Given the description of an element on the screen output the (x, y) to click on. 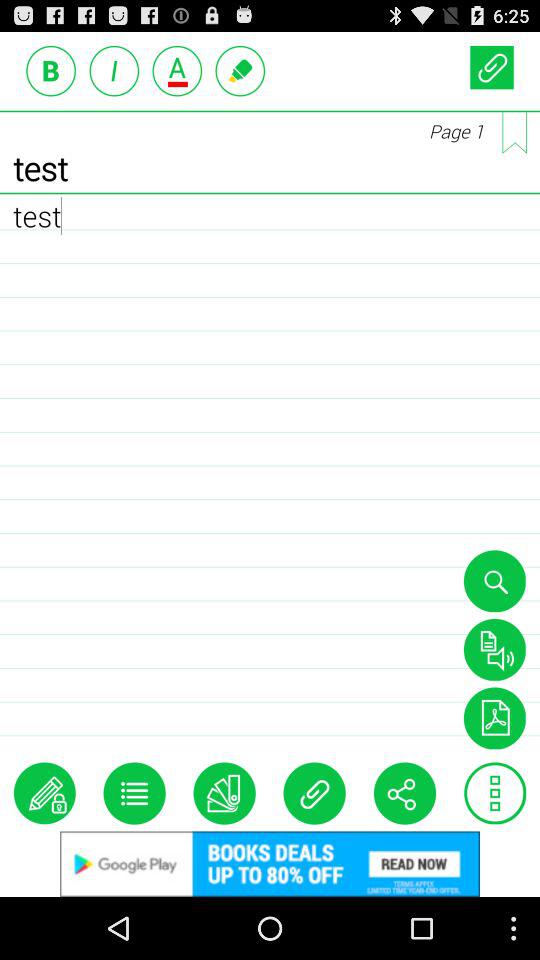
insert attachment (314, 793)
